Given the description of an element on the screen output the (x, y) to click on. 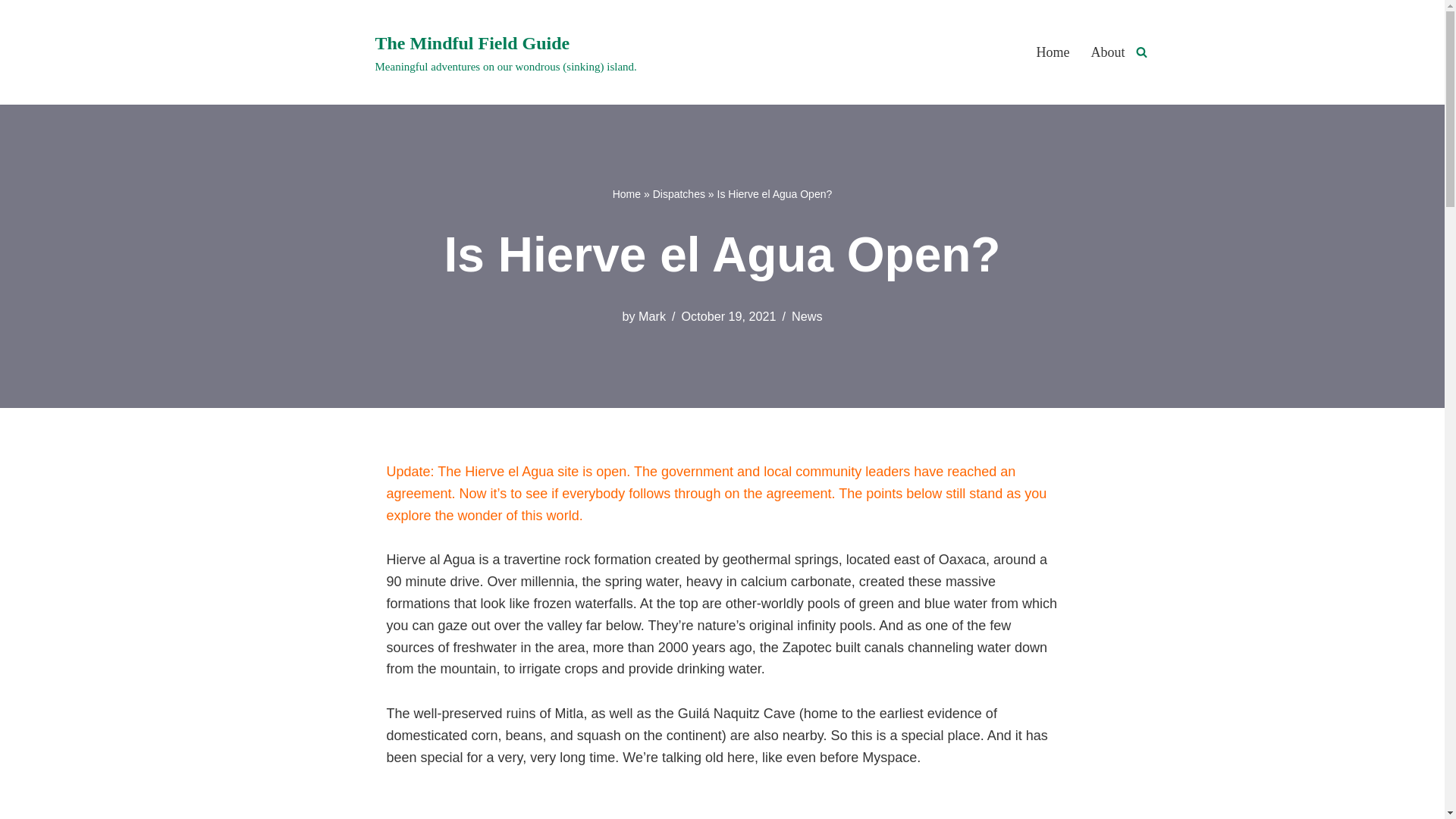
News (807, 315)
Home (1051, 51)
Dispatches (678, 193)
Mark (652, 315)
Home (626, 193)
Skip to content (11, 31)
About (1107, 51)
Posts by Mark (652, 315)
